Given the description of an element on the screen output the (x, y) to click on. 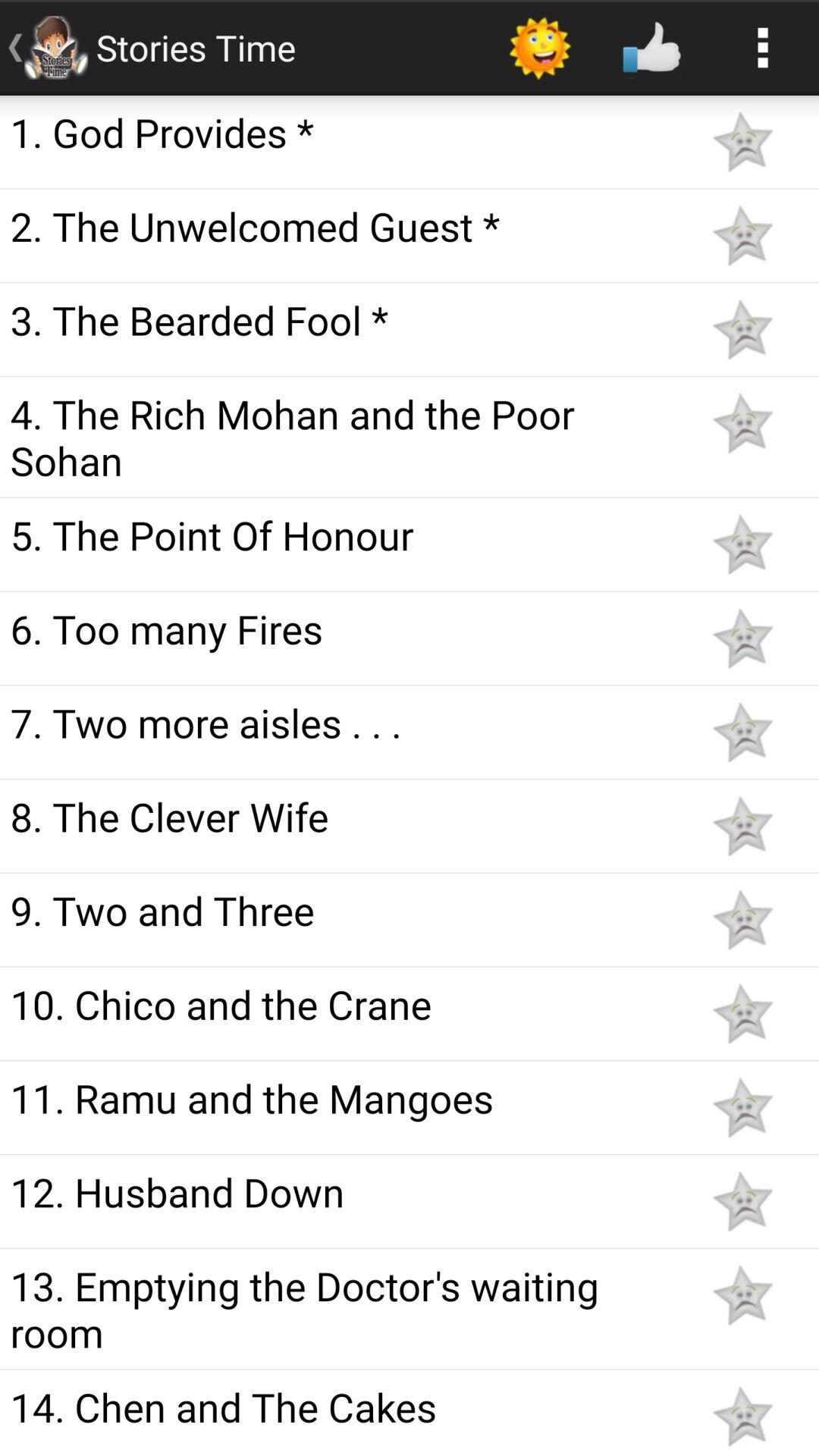
toggle favorite (742, 732)
